Given the description of an element on the screen output the (x, y) to click on. 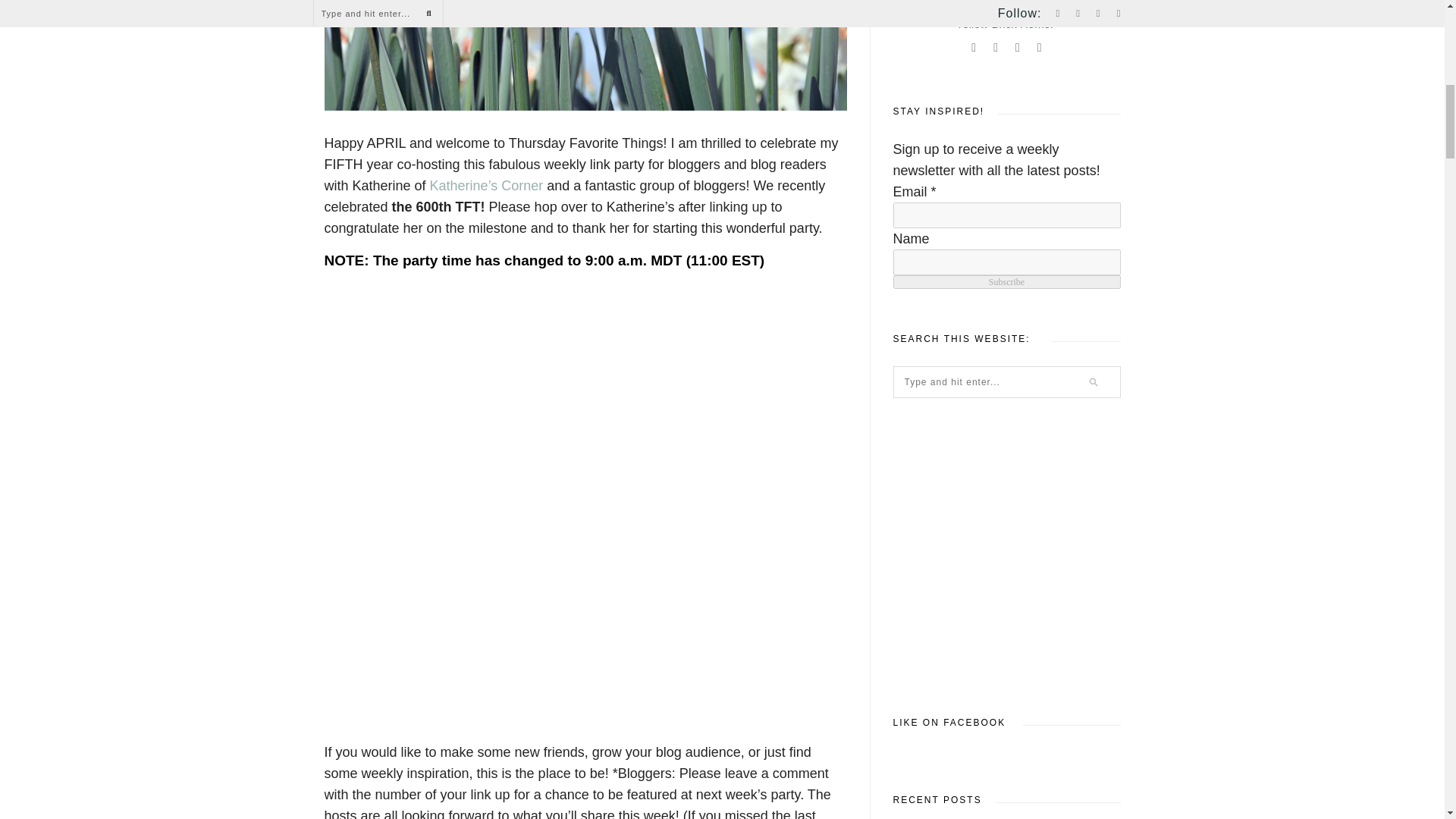
Subscribe (1007, 282)
